Given the description of an element on the screen output the (x, y) to click on. 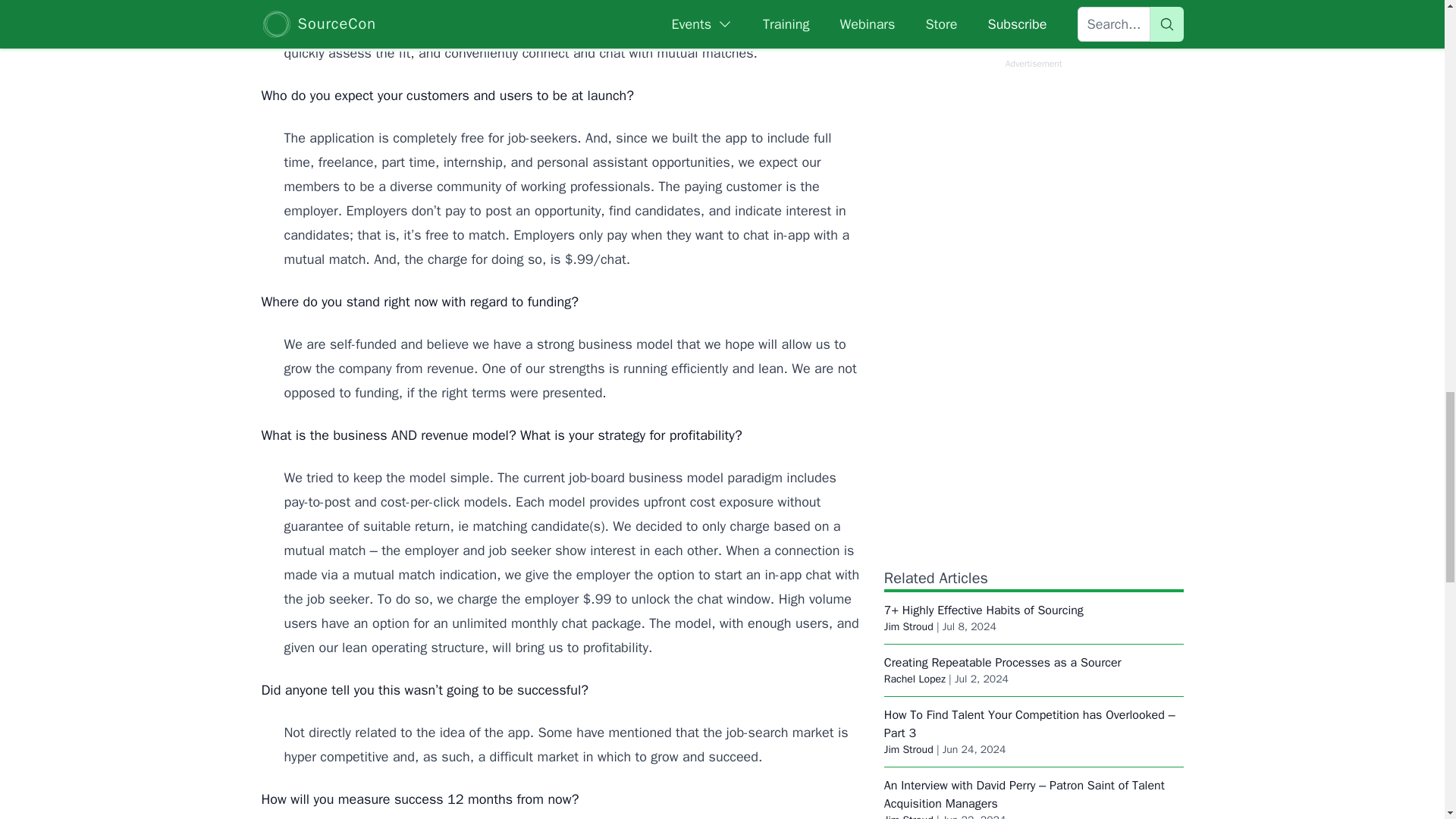
Jim Stroud (908, 626)
Creating Repeatable Processes as a Sourcer (1002, 662)
3rd party ad content (1033, 40)
